Given the description of an element on the screen output the (x, y) to click on. 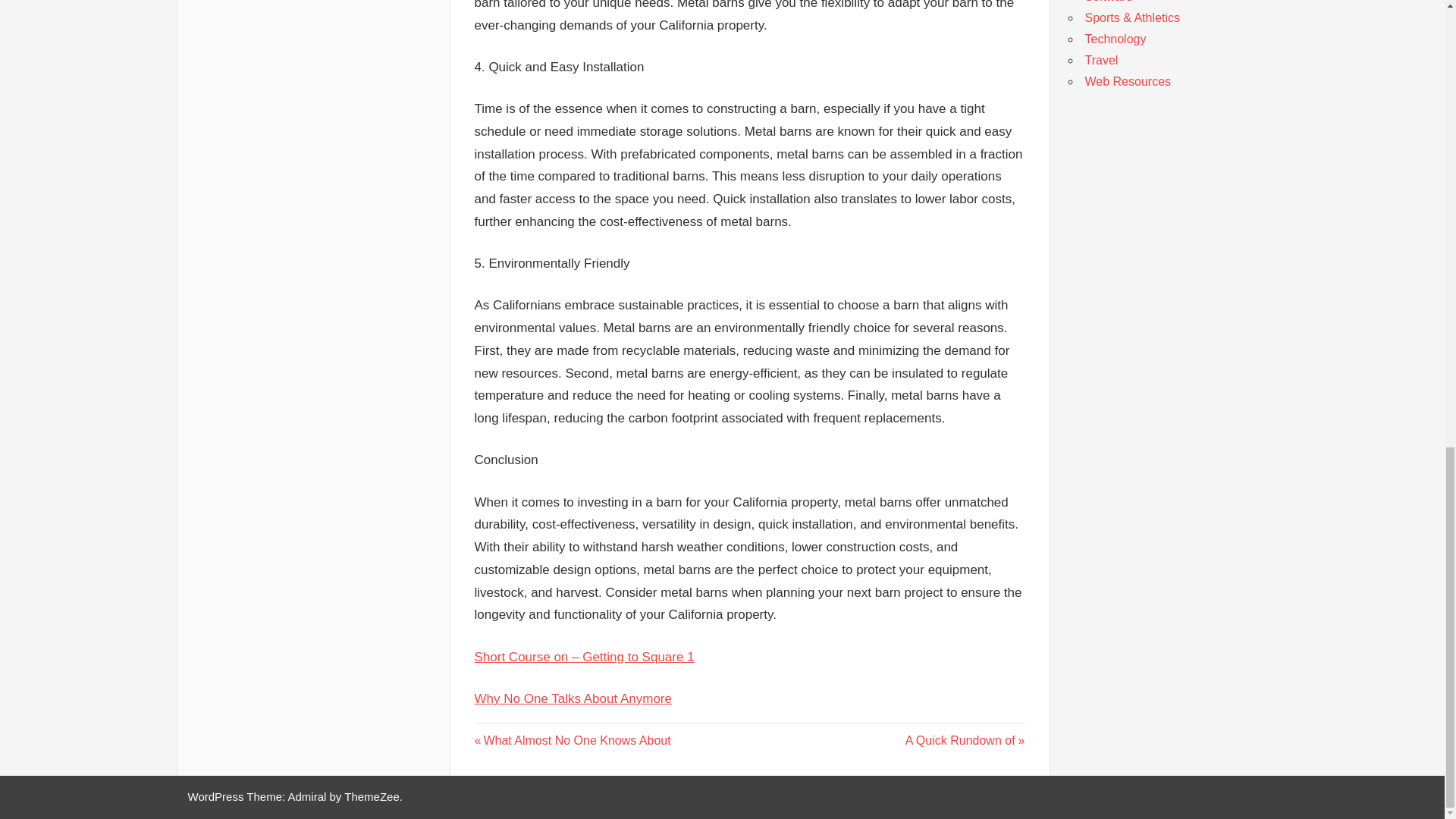
Why No One Talks About Anymore (965, 739)
